Given the description of an element on the screen output the (x, y) to click on. 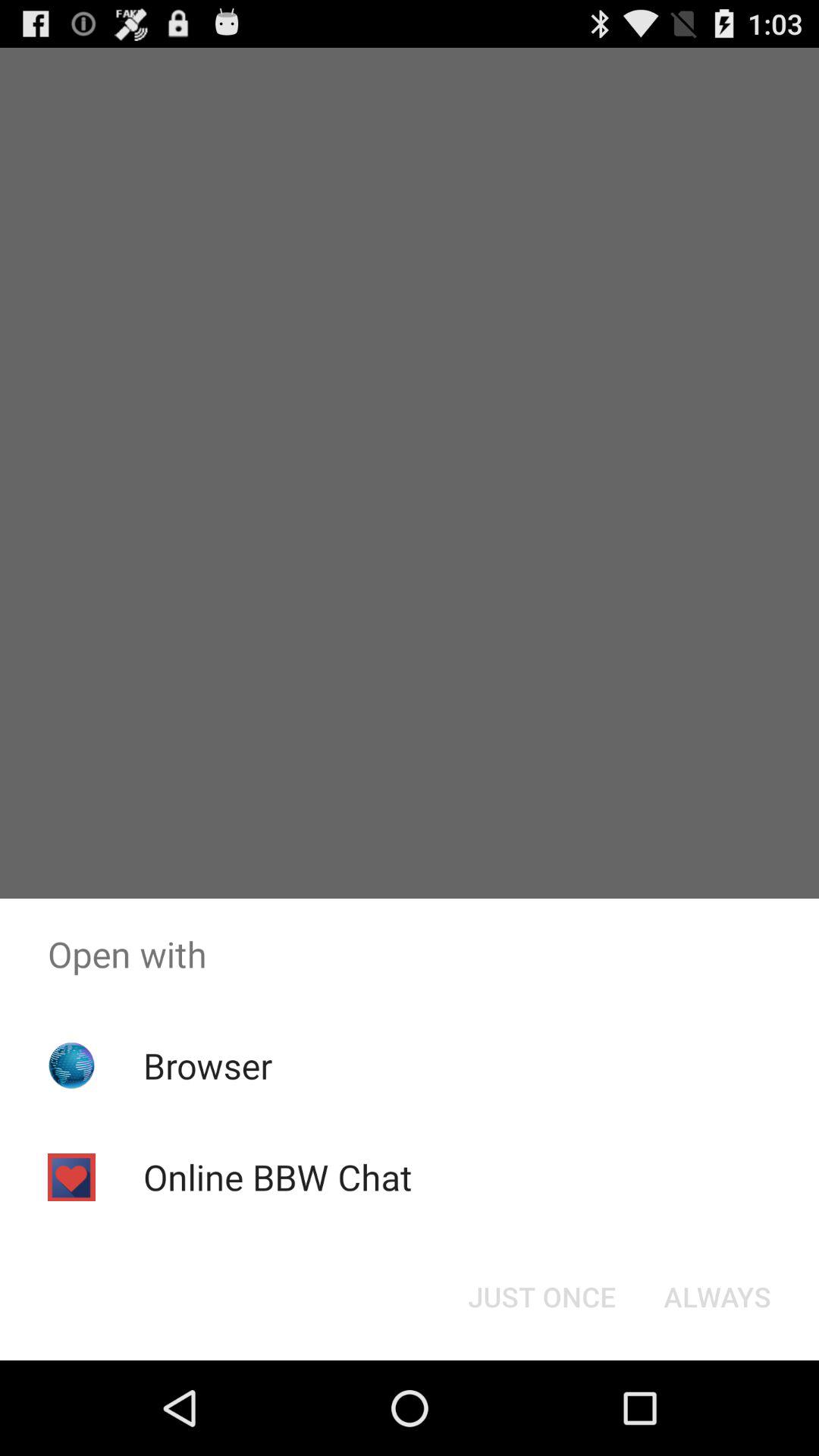
flip to the online bbw chat item (277, 1176)
